Given the description of an element on the screen output the (x, y) to click on. 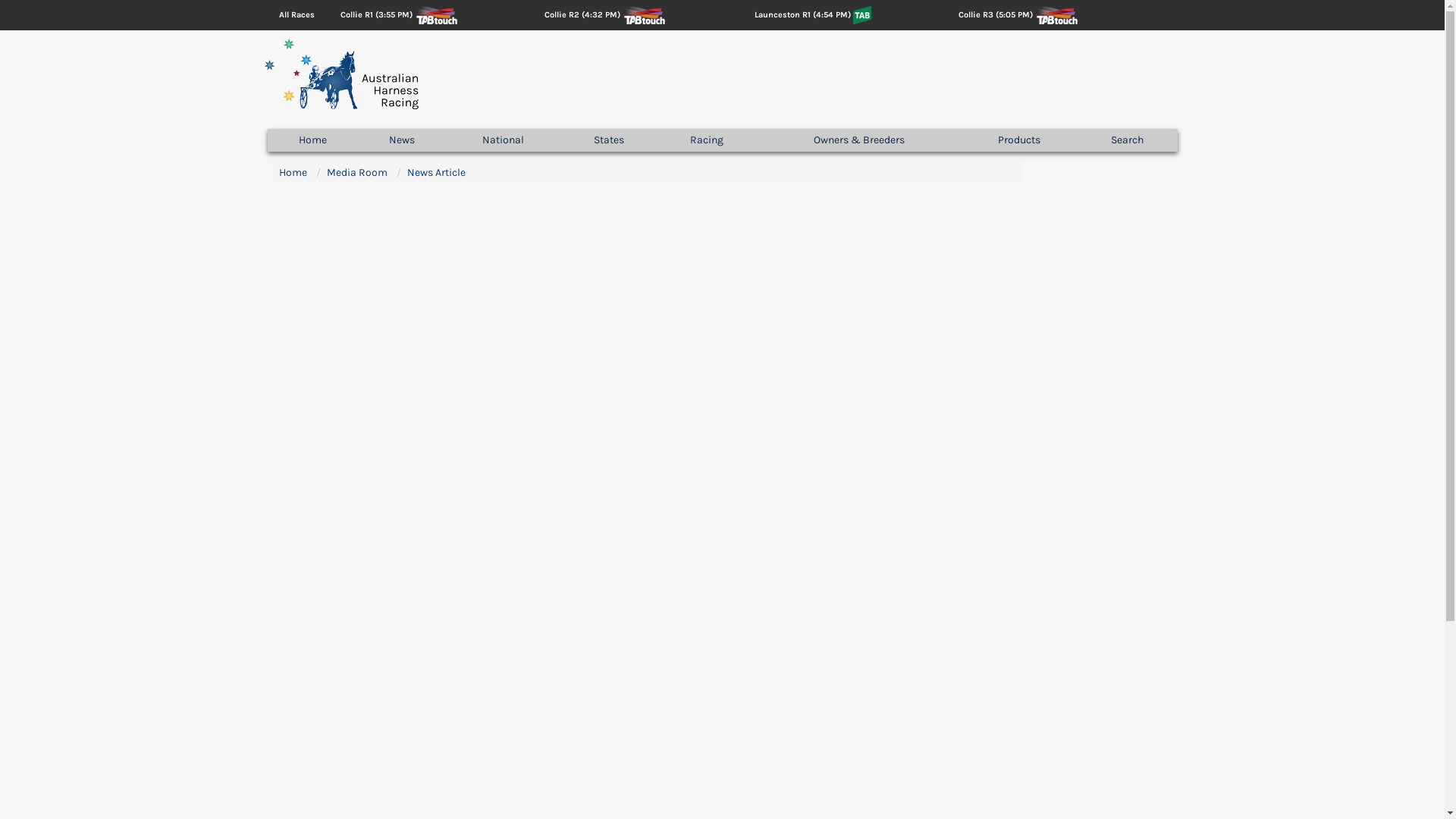
States Element type: text (608, 139)
Home Element type: text (293, 172)
Home Element type: text (311, 139)
National Element type: text (502, 139)
Products Element type: text (1018, 139)
News Article Element type: text (435, 172)
Racing Element type: text (705, 139)
Launceston R1 (4:54 PM) Element type: text (802, 14)
Media Room Element type: text (356, 172)
All Races Element type: text (296, 14)
Owners & Breeders Element type: text (858, 139)
Collie R2 (4:32 PM) Element type: text (582, 14)
News Element type: text (401, 139)
Collie R3 (5:05 PM) Element type: text (995, 14)
Search Element type: text (1127, 139)
Collie R1 (3:55 PM) Element type: text (376, 14)
